Given the description of an element on the screen output the (x, y) to click on. 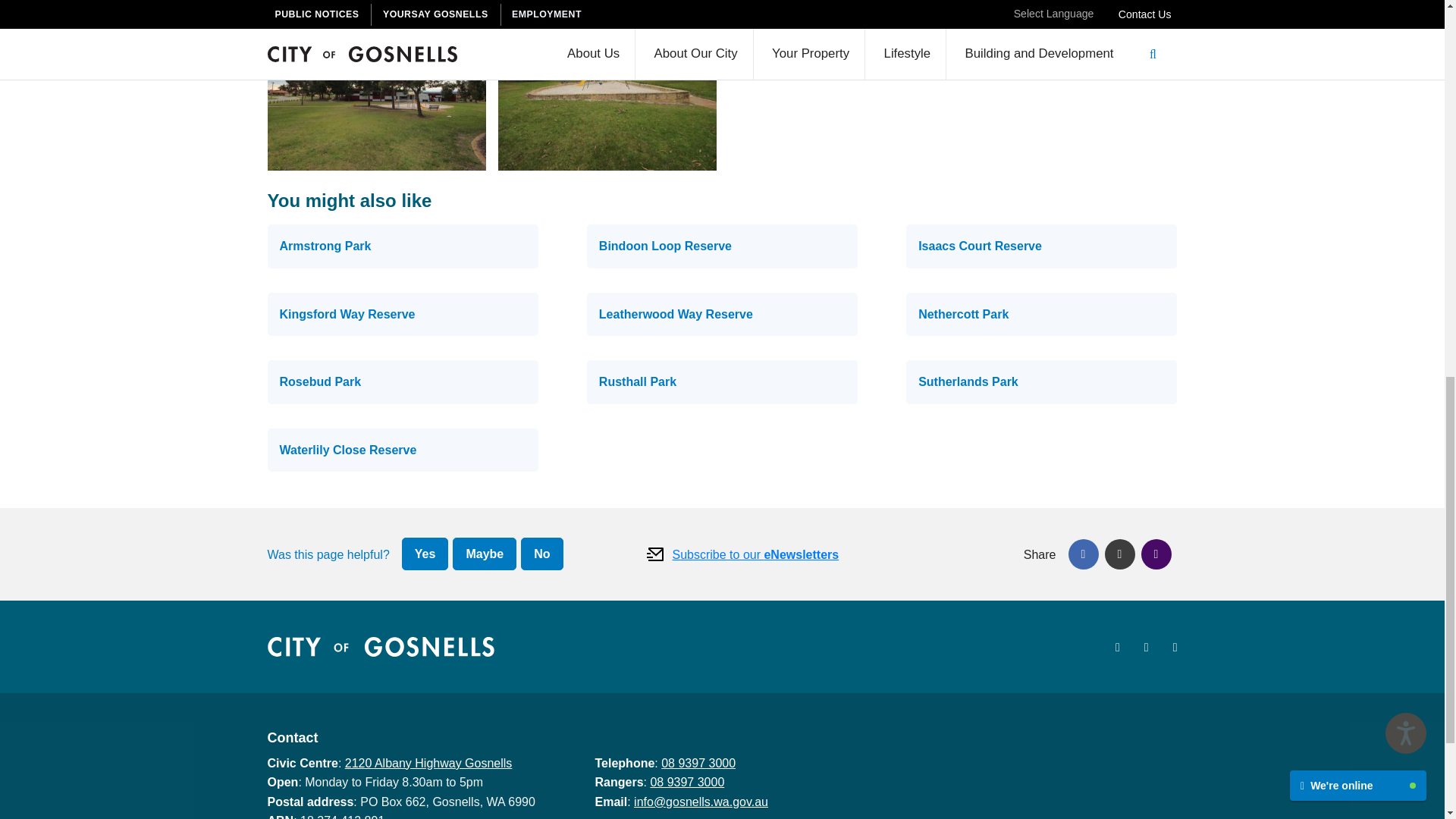
Email a link to this page. (1118, 553)
Share this page on facebook. (1082, 553)
Open the print dialog. (1155, 553)
